Given the description of an element on the screen output the (x, y) to click on. 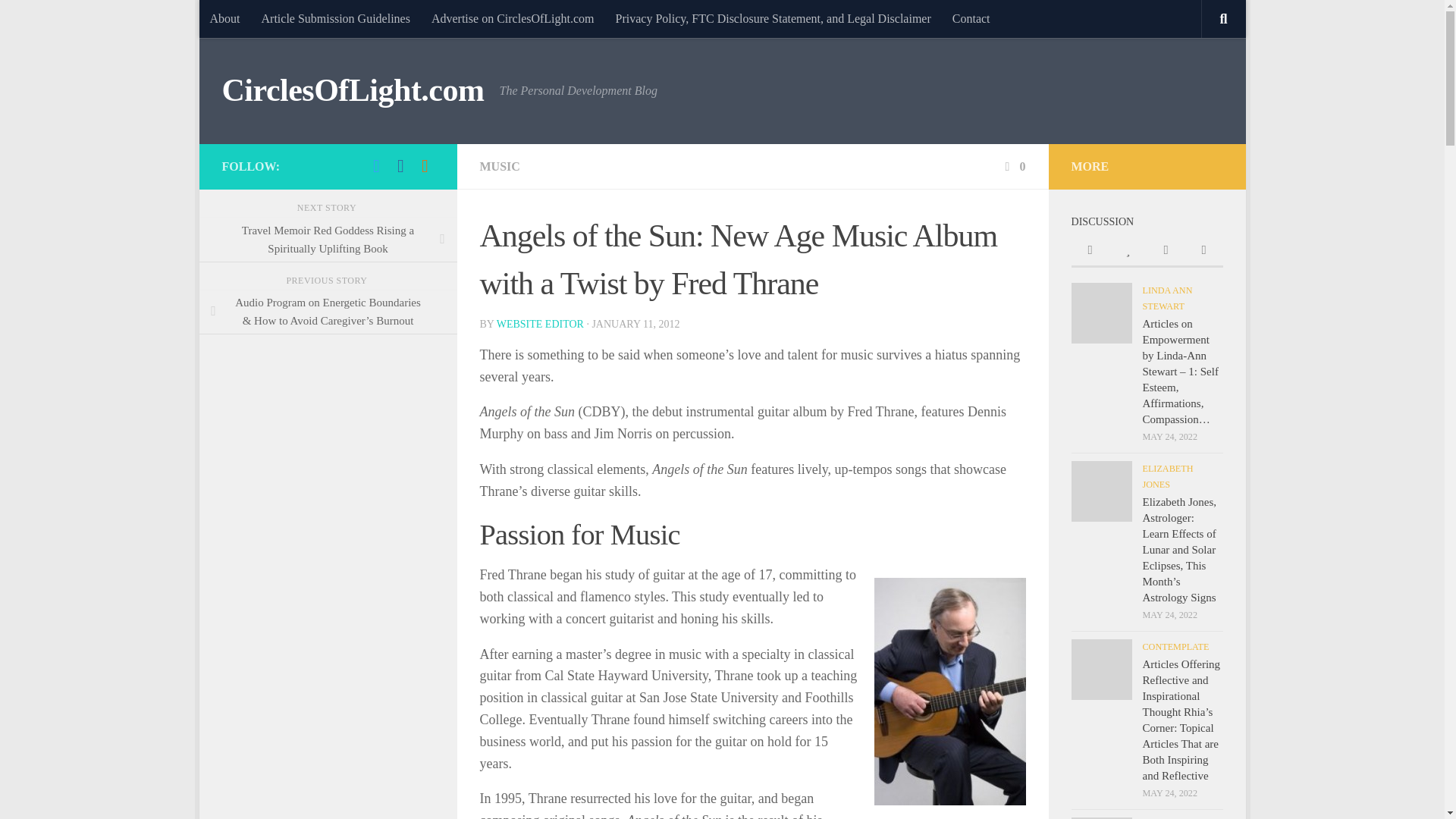
Posts by Website Editor (539, 324)
WEBSITE EDITOR (539, 324)
Advertise on CirclesOfLight.com (512, 18)
Recent Posts (1089, 251)
Skip to content (258, 20)
0 (1013, 165)
RSS (423, 166)
Popular Posts (1127, 251)
Article Submission Guidelines (335, 18)
